Given the description of an element on the screen output the (x, y) to click on. 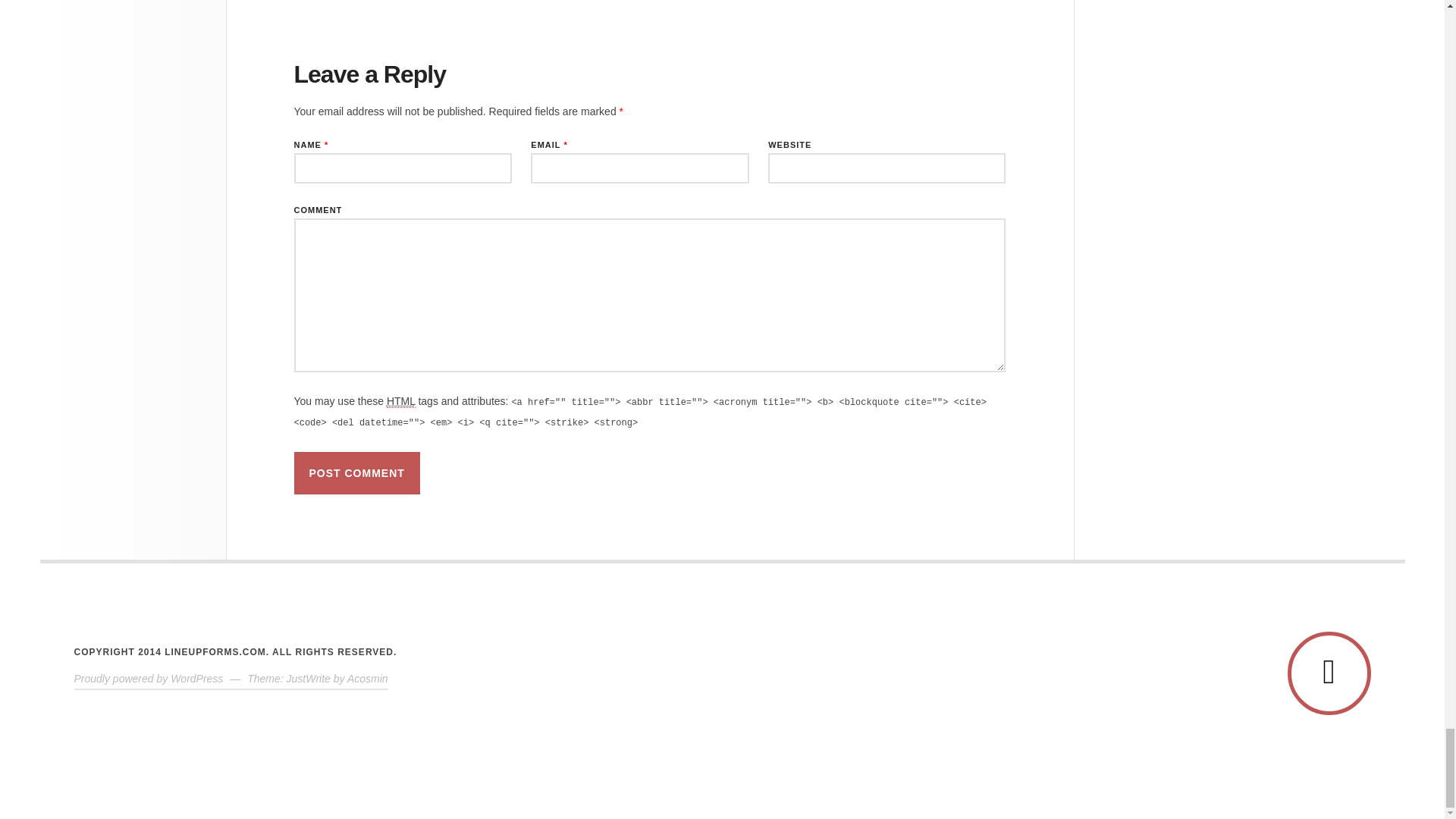
Post Comment (357, 473)
HyperText Markup Language (400, 400)
Post Comment (357, 473)
